Given the description of an element on the screen output the (x, y) to click on. 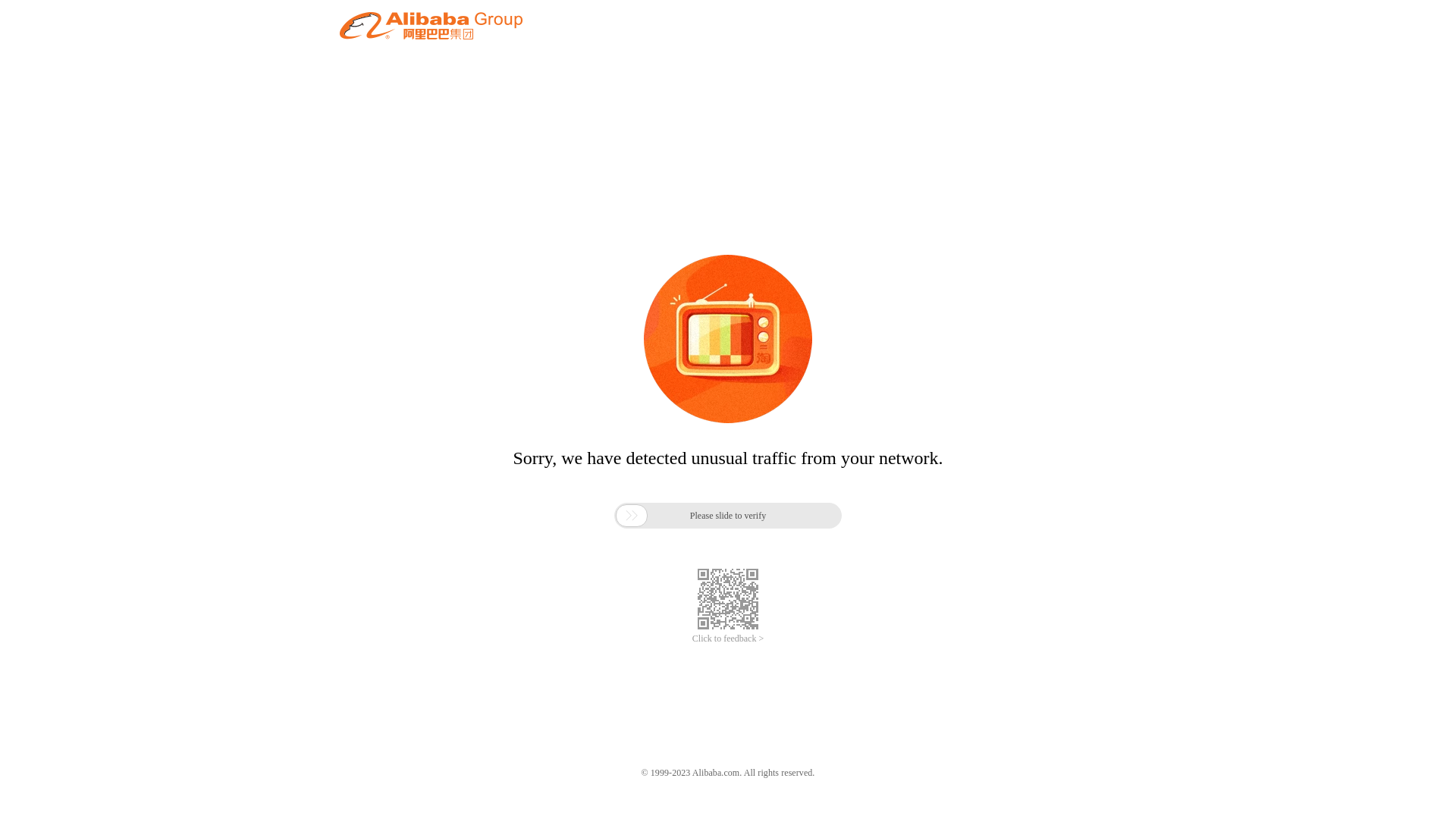
Click to feedback > Element type: text (727, 638)
